Given the description of an element on the screen output the (x, y) to click on. 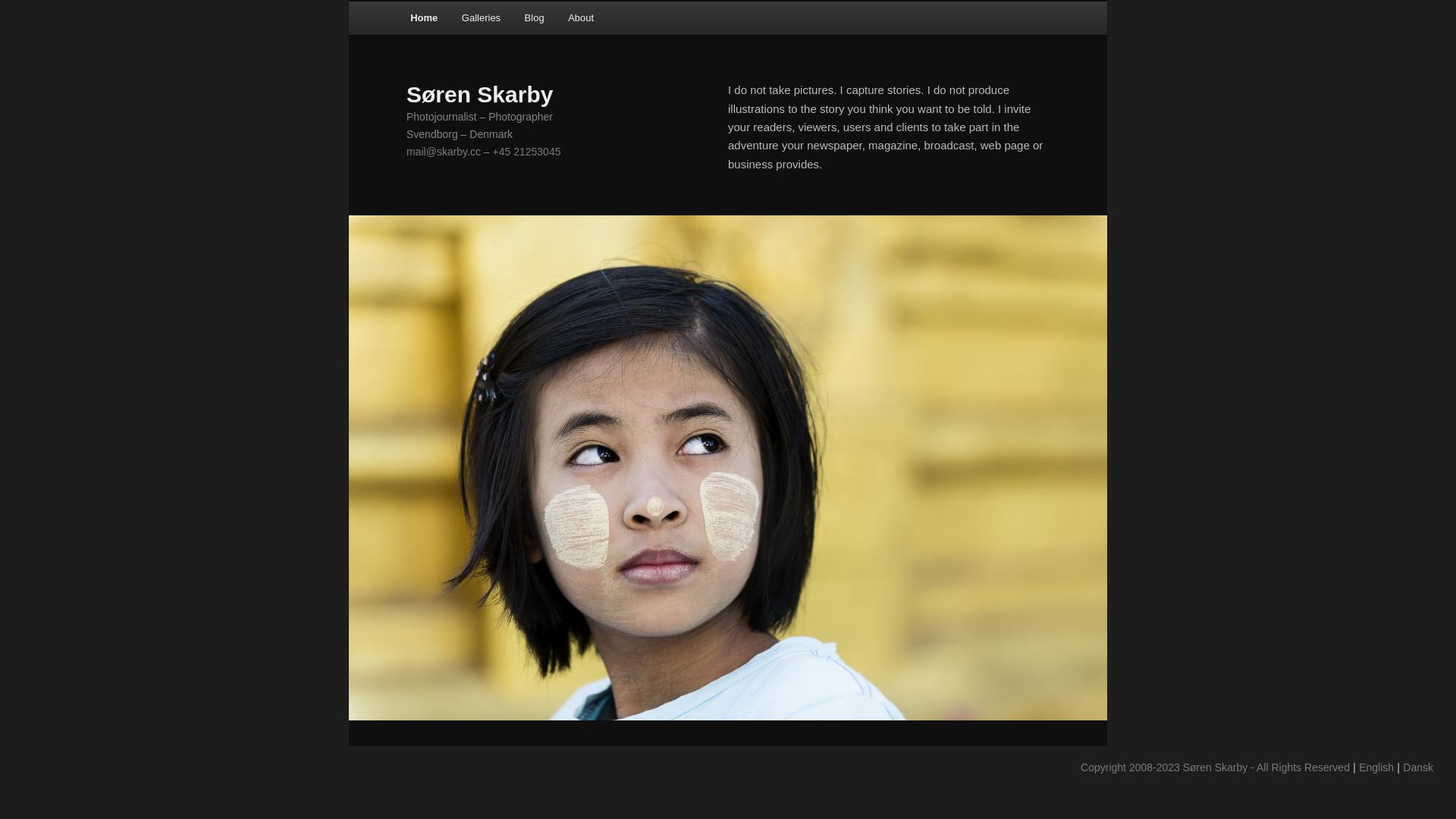
Labutta, Myanmar 2013 Element type: hover (727, 467)
About Element type: text (580, 17)
Galleries Element type: text (480, 17)
Dansk Element type: text (1417, 767)
English Element type: text (1375, 767)
+45 21253045 Element type: text (526, 151)
Skip to primary content Element type: text (420, 1)
Home Element type: text (423, 17)
Blog Element type: text (534, 17)
mail@skarby.cc Element type: text (443, 151)
